Given the description of an element on the screen output the (x, y) to click on. 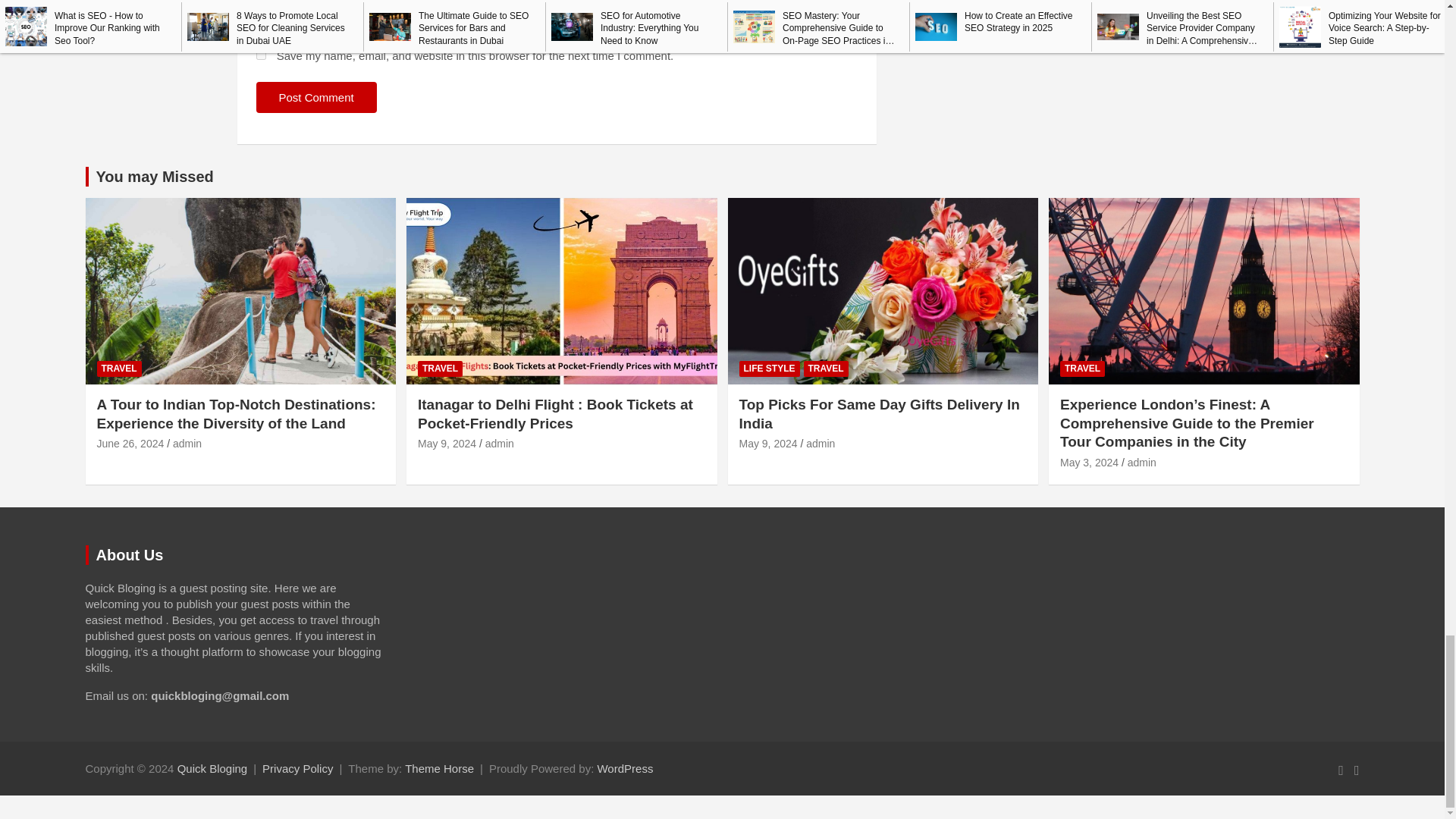
yes (261, 54)
Post Comment (316, 97)
